Given the description of an element on the screen output the (x, y) to click on. 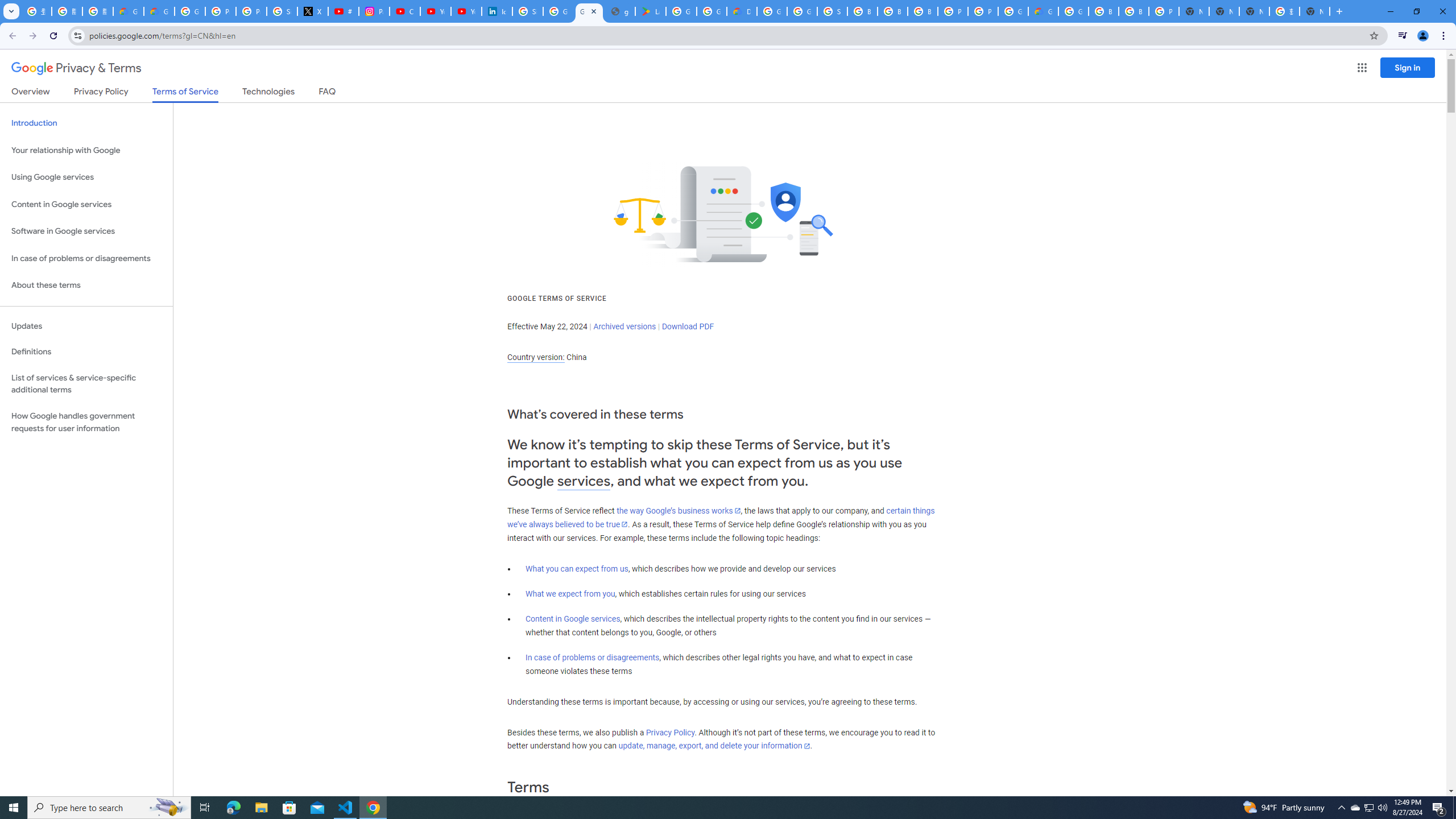
New Tab (1193, 11)
Using Google services (86, 176)
Terms of Service (184, 94)
Sign in (1407, 67)
Technologies (268, 93)
Browse Chrome as a guest - Computer - Google Chrome Help (862, 11)
View site information (77, 35)
About these terms (86, 284)
X (312, 11)
Privacy Help Center - Policies Help (220, 11)
Country version: (535, 357)
Your relationship with Google (86, 150)
